Given the description of an element on the screen output the (x, y) to click on. 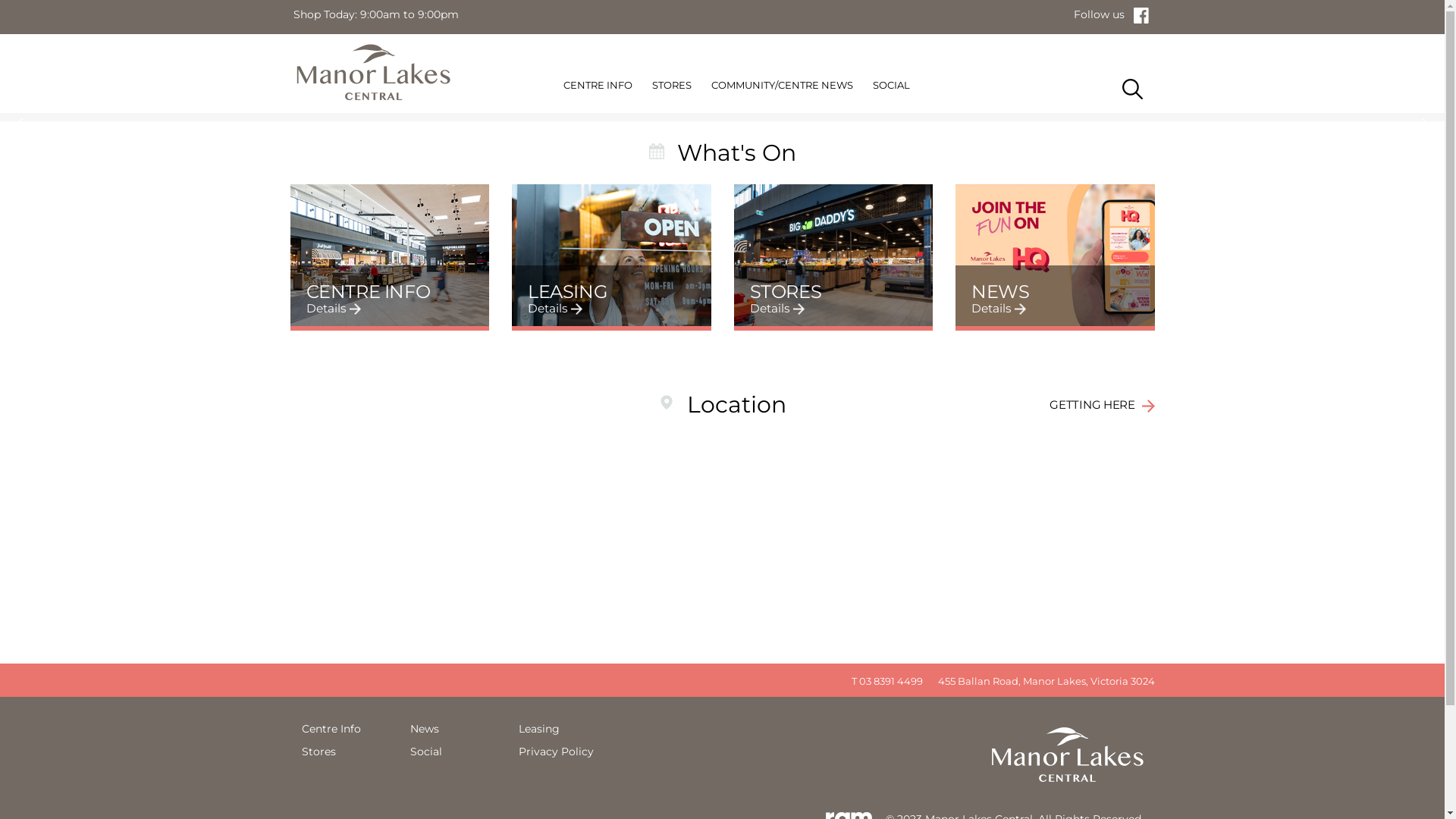
T 03 8391 4499 Element type: text (882, 680)
Leasing Element type: text (538, 728)
CENTRE INFO Element type: text (597, 87)
SOCIAL Element type: text (890, 87)
455 Ballan Road, Manor Lakes, Victoria 3024 Element type: text (1041, 680)
STORES
Details Element type: text (833, 255)
Privacy Policy Element type: text (555, 751)
Facebook Element type: hover (1143, 14)
Social Element type: text (425, 751)
GETTING HERE Element type: text (1101, 404)
NEWS
Details Element type: text (1054, 255)
News Element type: text (423, 728)
CENTRE INFO
Details Element type: text (389, 255)
STORES Element type: text (671, 87)
Centre Info Element type: text (330, 728)
LEASING
Details Element type: text (611, 255)
Stores Element type: text (318, 751)
COMMUNITY/CENTRE NEWS Element type: text (781, 87)
